Given the description of an element on the screen output the (x, y) to click on. 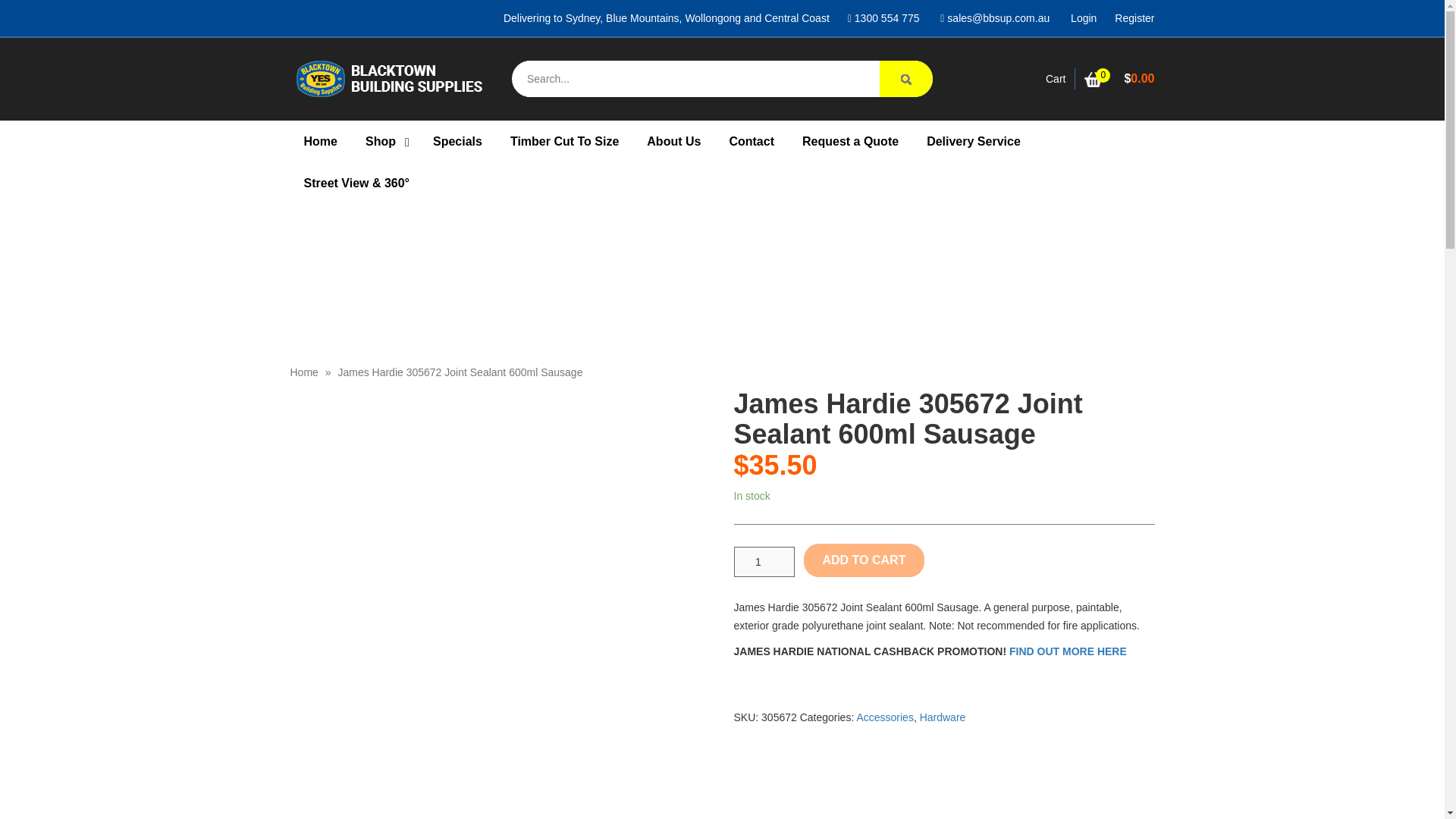
ADD TO CART (863, 560)
Register (1134, 18)
View your quote (1055, 78)
About Us (673, 141)
Specials (457, 141)
Request a Quote (850, 141)
Home (319, 141)
View your shopping cart (1119, 78)
Cart (1055, 78)
FIND OUT MORE HERE (1067, 651)
Hardware (943, 717)
Delivery Service (972, 141)
Home (303, 372)
1300 554 775 (883, 18)
